Given the description of an element on the screen output the (x, y) to click on. 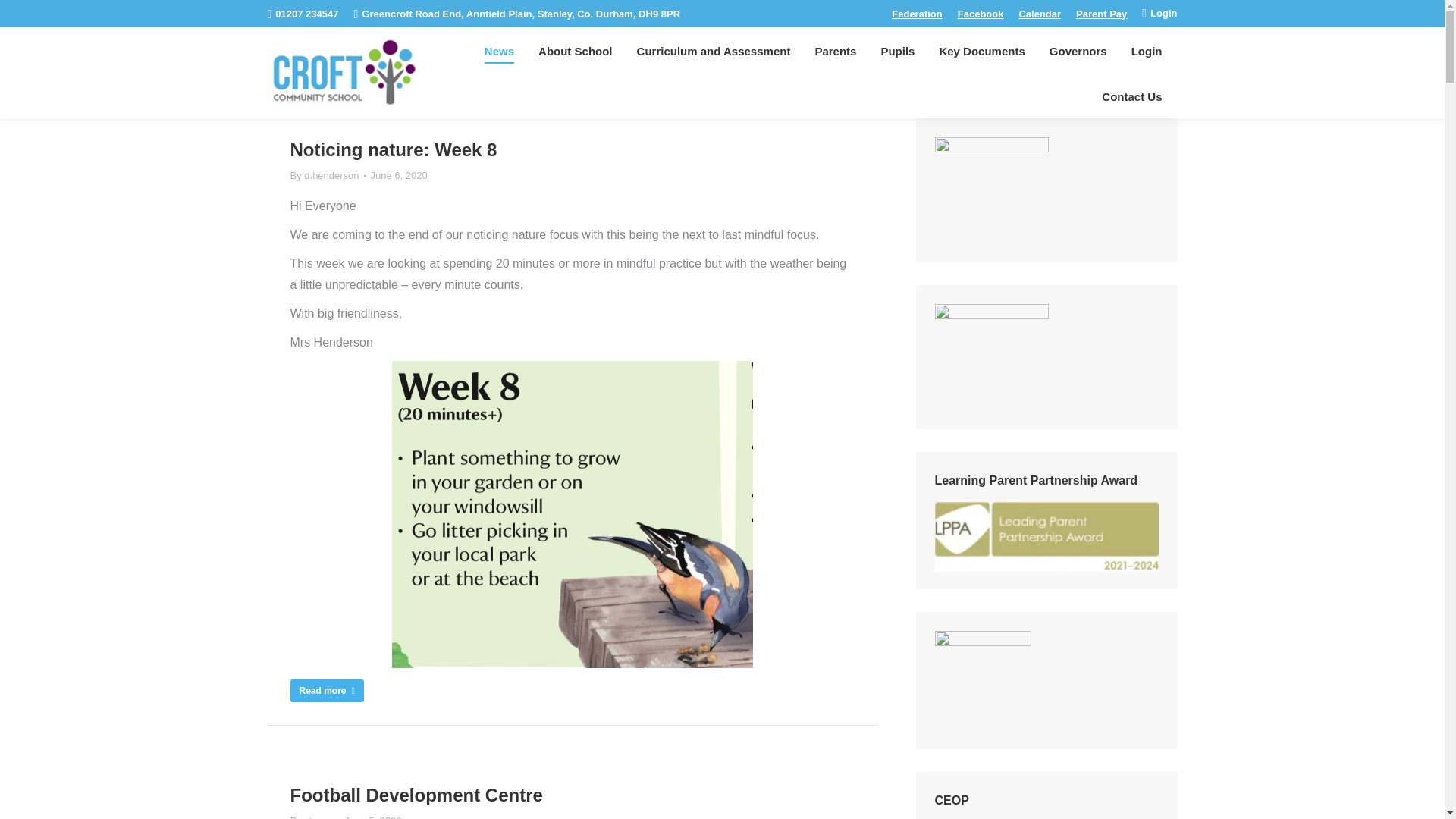
10:43 am (399, 175)
2:18 pm (373, 815)
Federation (916, 12)
Curriculum and Assessment (713, 49)
Login (1158, 12)
Facebook (981, 12)
View all posts by steven (314, 815)
Parent Pay (1100, 12)
About School (575, 49)
Noticing nature: Week 8 (392, 149)
